Given the description of an element on the screen output the (x, y) to click on. 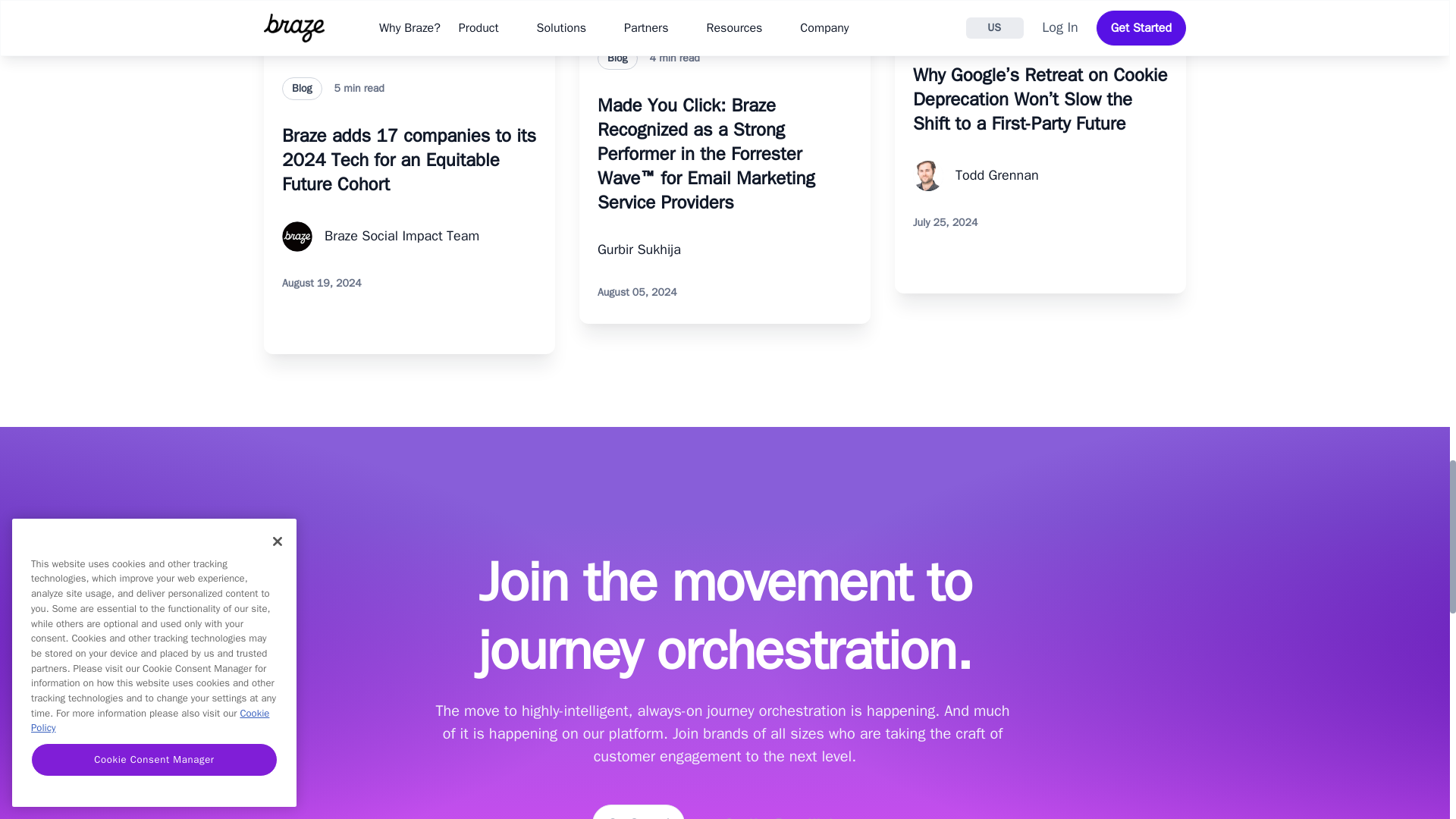
See How Braze Works (783, 811)
Get Started (638, 811)
